Given the description of an element on the screen output the (x, y) to click on. 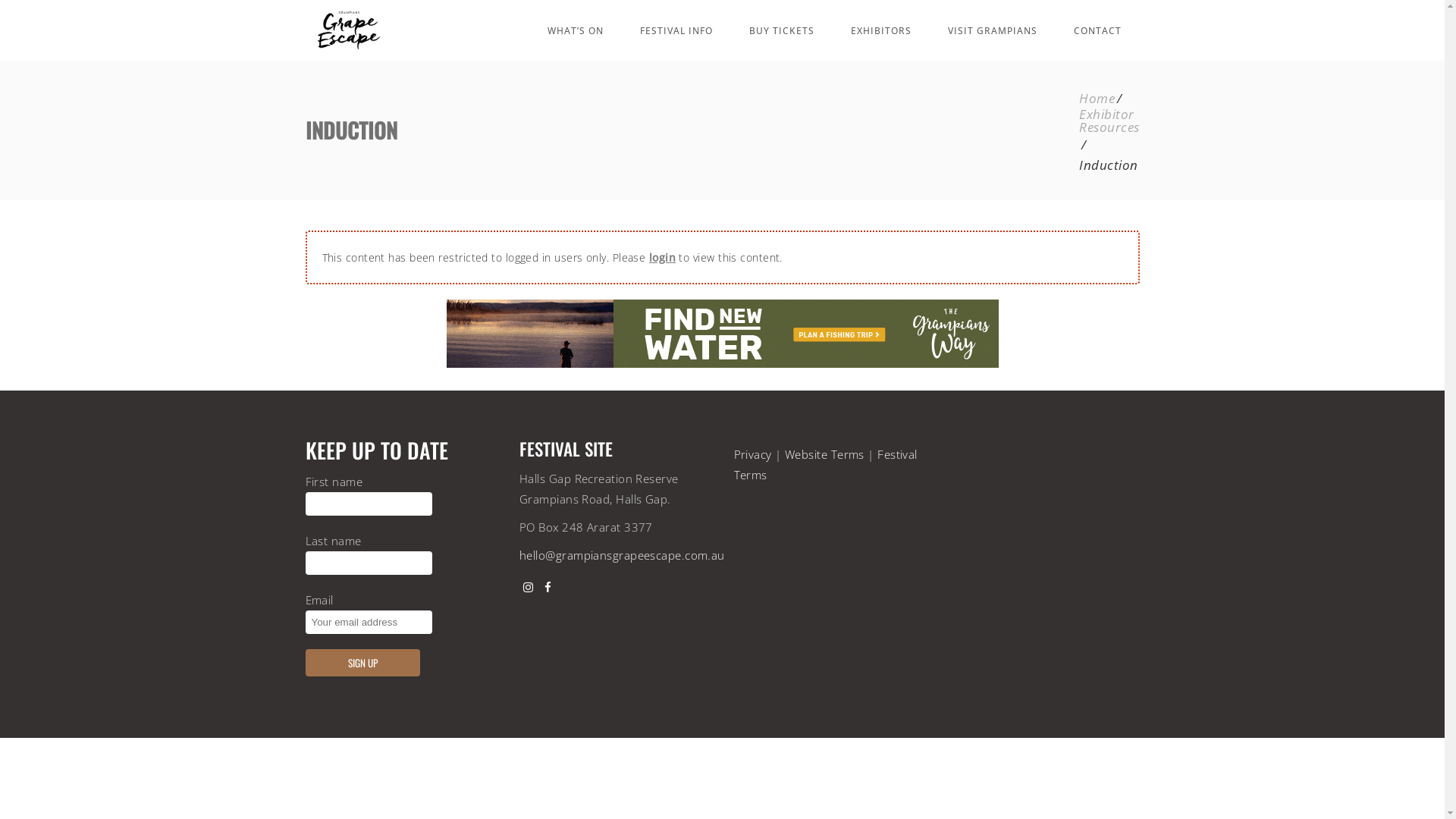
VISIT GRAMPIANS Element type: text (992, 29)
Exhibitor Resources Element type: text (1109, 120)
login Element type: text (662, 257)
EXHIBITORS Element type: text (880, 29)
CONTACT Element type: text (1097, 29)
Home Element type: text (1096, 97)
Privacy Element type: text (752, 453)
Website Terms Element type: text (824, 453)
Sign up Element type: text (362, 662)
Festival Terms Element type: text (825, 464)
hello@grampiansgrapeescape.com.au Element type: text (621, 554)
BUY TICKETS Element type: text (781, 29)
FESTIVAL INFO Element type: text (676, 29)
